Given the description of an element on the screen output the (x, y) to click on. 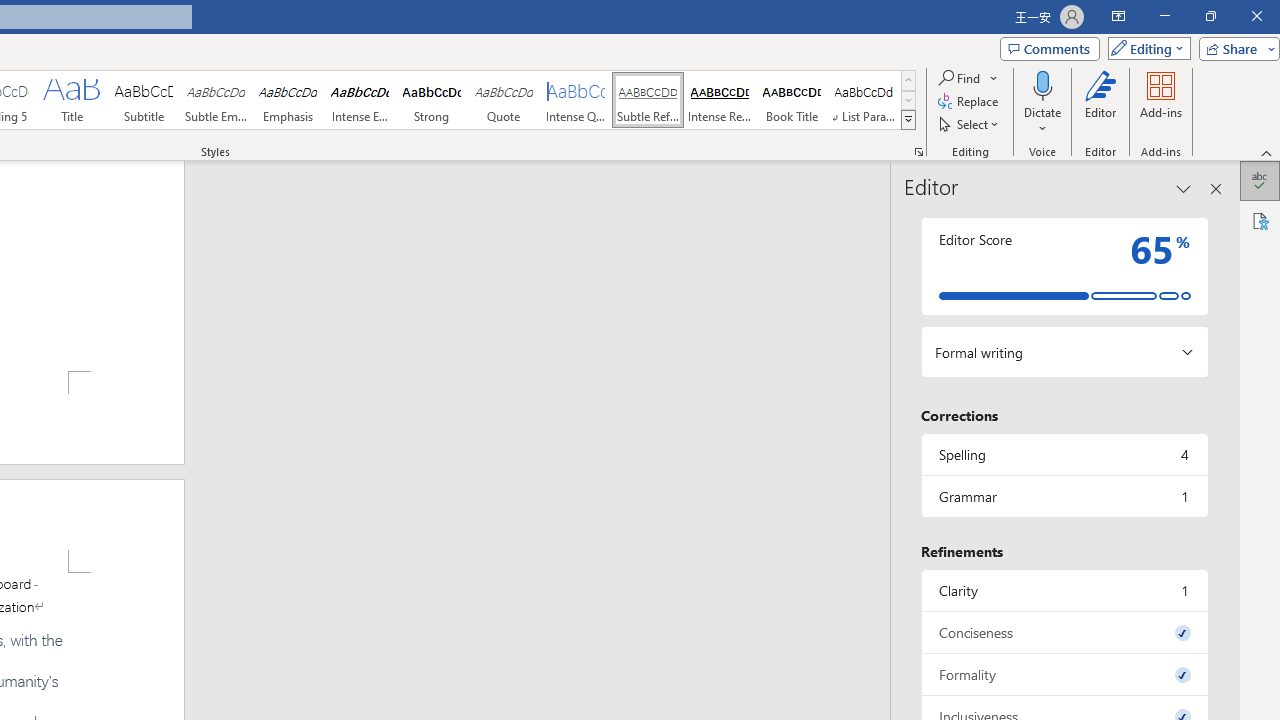
Editor (1101, 102)
Find (968, 78)
Class: NetUIImage (908, 119)
Intense Emphasis (359, 100)
Clarity, 1 issue. Press space or enter to review items. (1064, 590)
Styles (908, 120)
Close pane (1215, 188)
Editing (1144, 47)
Find (960, 78)
Ribbon Display Options (1118, 16)
Subtitle (143, 100)
Styles... (918, 151)
